Given the description of an element on the screen output the (x, y) to click on. 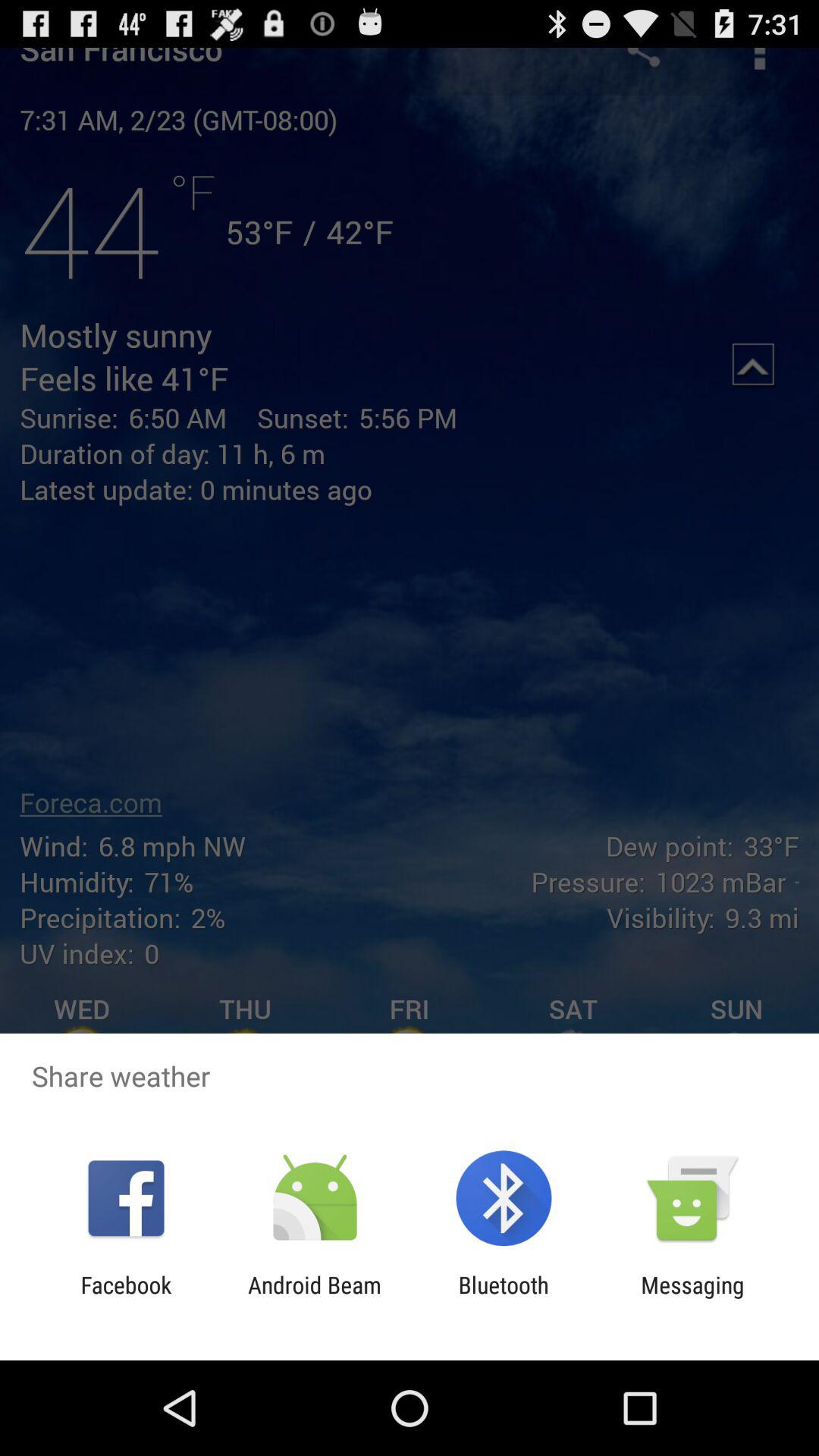
flip until facebook (125, 1298)
